Given the description of an element on the screen output the (x, y) to click on. 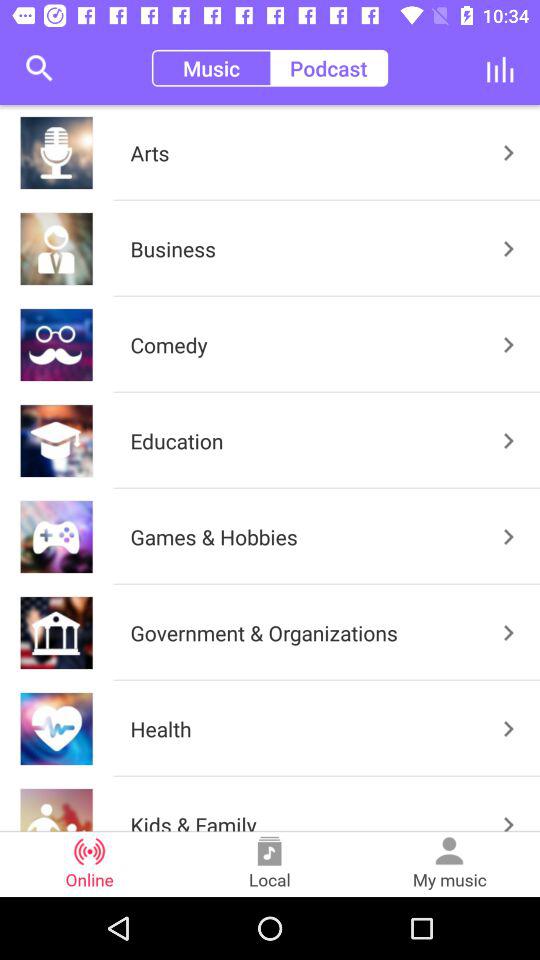
open the item to the left of local (90, 863)
